Given the description of an element on the screen output the (x, y) to click on. 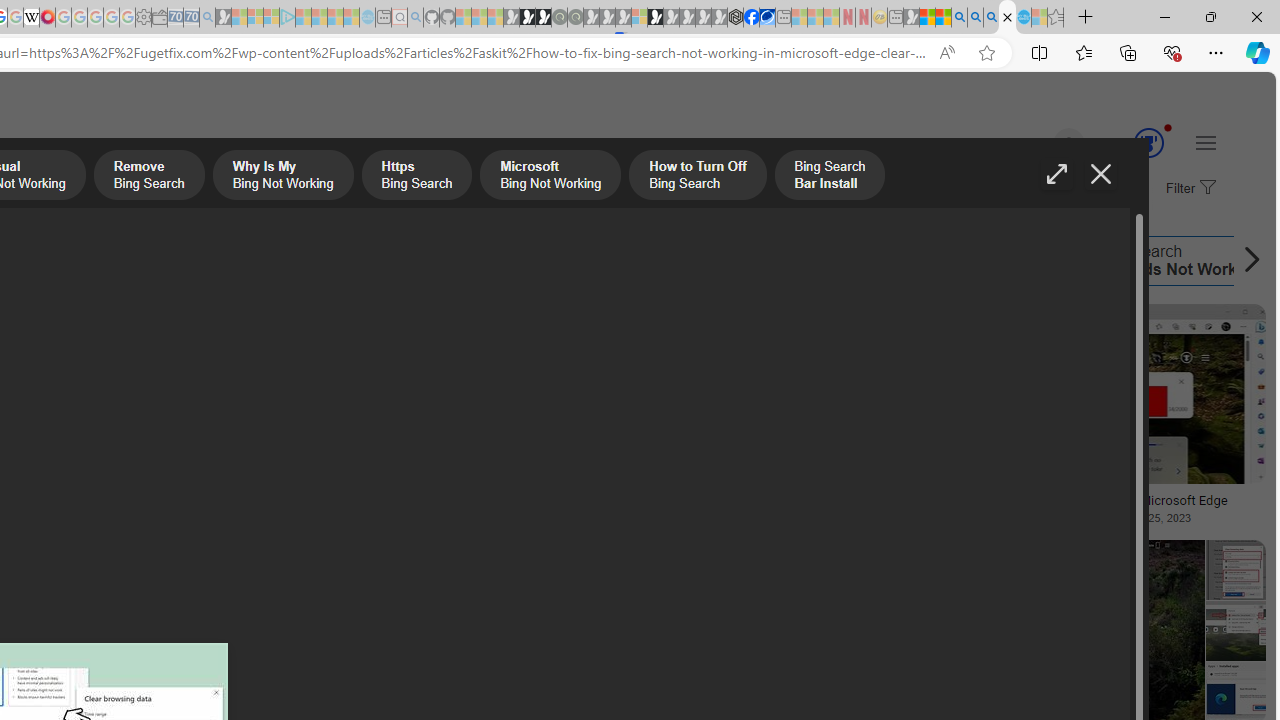
github - Search - Sleeping (415, 17)
White Bing Cherries (143, 493)
Close image (1100, 173)
Filter (1188, 189)
Settings and quick links (1205, 142)
Bing Search Bar Install (471, 260)
